Given the description of an element on the screen output the (x, y) to click on. 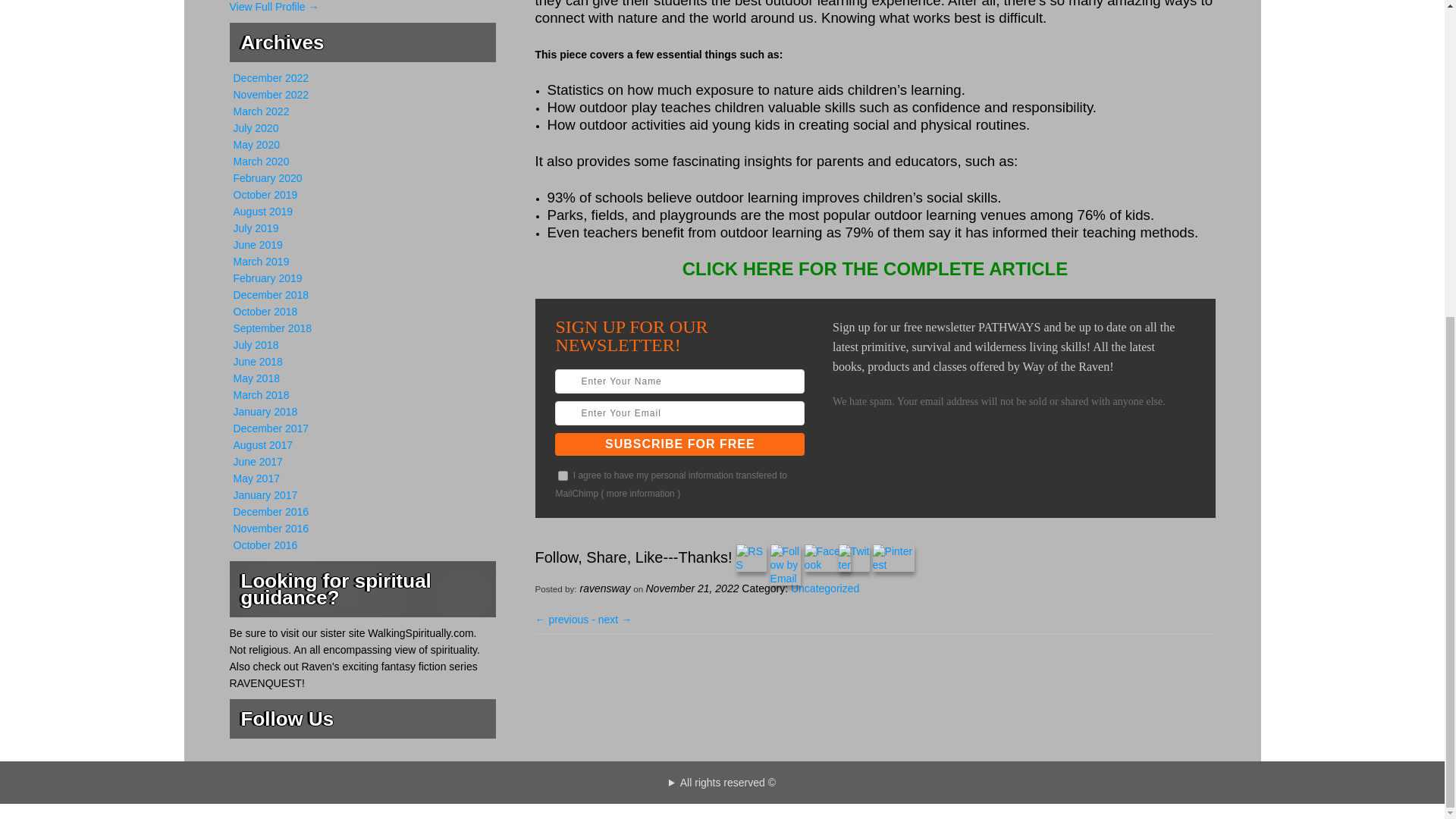
Facebook (827, 557)
December 2022 (270, 78)
March 2022 (260, 111)
July 2020 (255, 128)
more information (641, 493)
on (562, 475)
November 2022 (270, 94)
CLICK HERE FOR THE COMPLETE ARTICLE (874, 271)
February 2020 (267, 177)
May 2020 (255, 144)
Twitter (853, 557)
March 2020 (260, 161)
SUBSCRIBE FOR FREE (679, 444)
Uncategorized (824, 588)
Pinterest (893, 557)
